Given the description of an element on the screen output the (x, y) to click on. 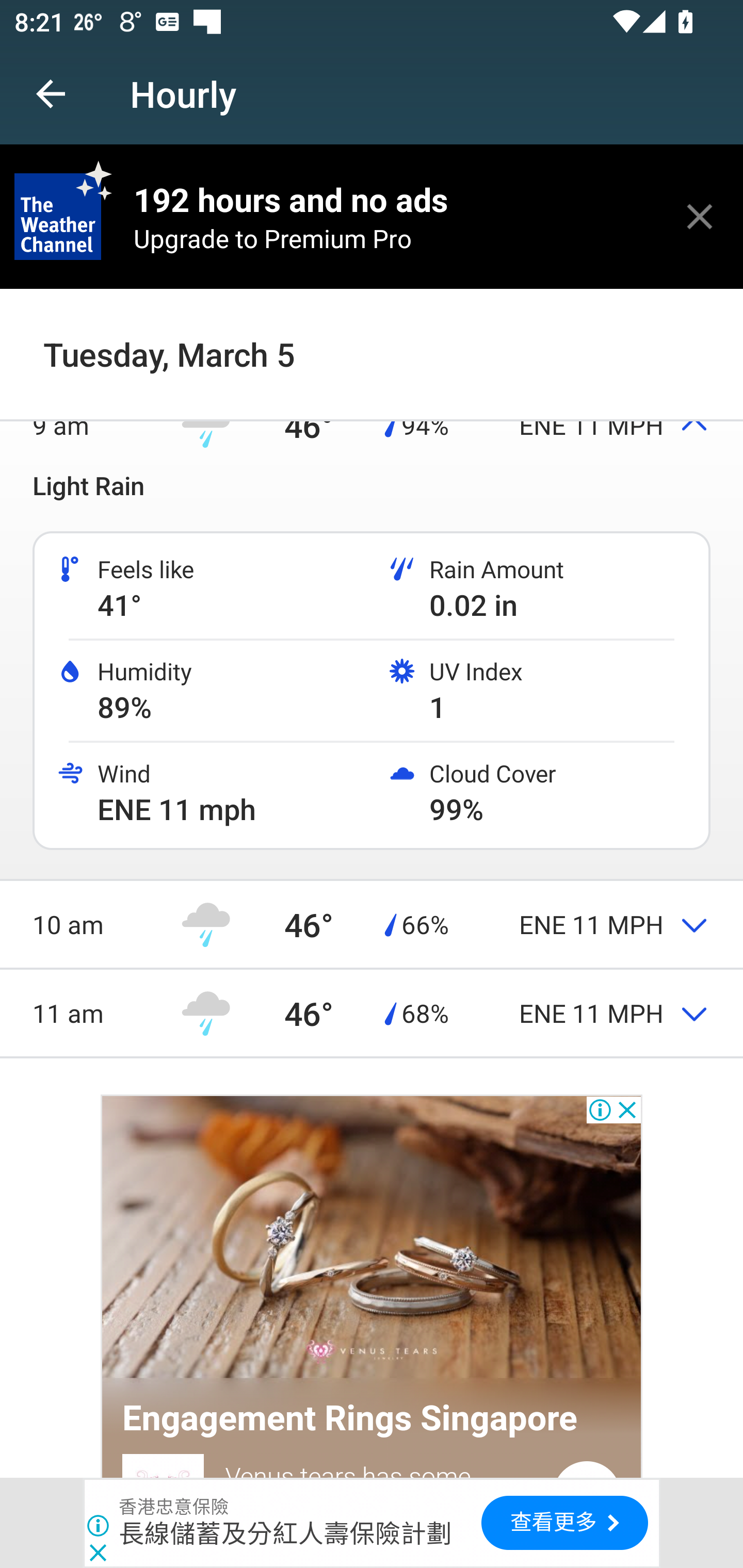
Navigate up (50, 93)
close this (699, 216)
8 am 46° 100% ENE 10 MPH (371, 336)
9 am 46° 94% ENE 11 MPH (371, 424)
10 am 46° 66% ENE 11 MPH (371, 924)
11 am 46° 68% ENE 11 MPH (371, 1012)
venus-tears (371, 1239)
Engagement Rings Singapore (349, 1418)
香港忠意保險 (174, 1507)
查看更多 (564, 1522)
長線儲蓄及分紅人壽保險計劃 (285, 1533)
